Given the description of an element on the screen output the (x, y) to click on. 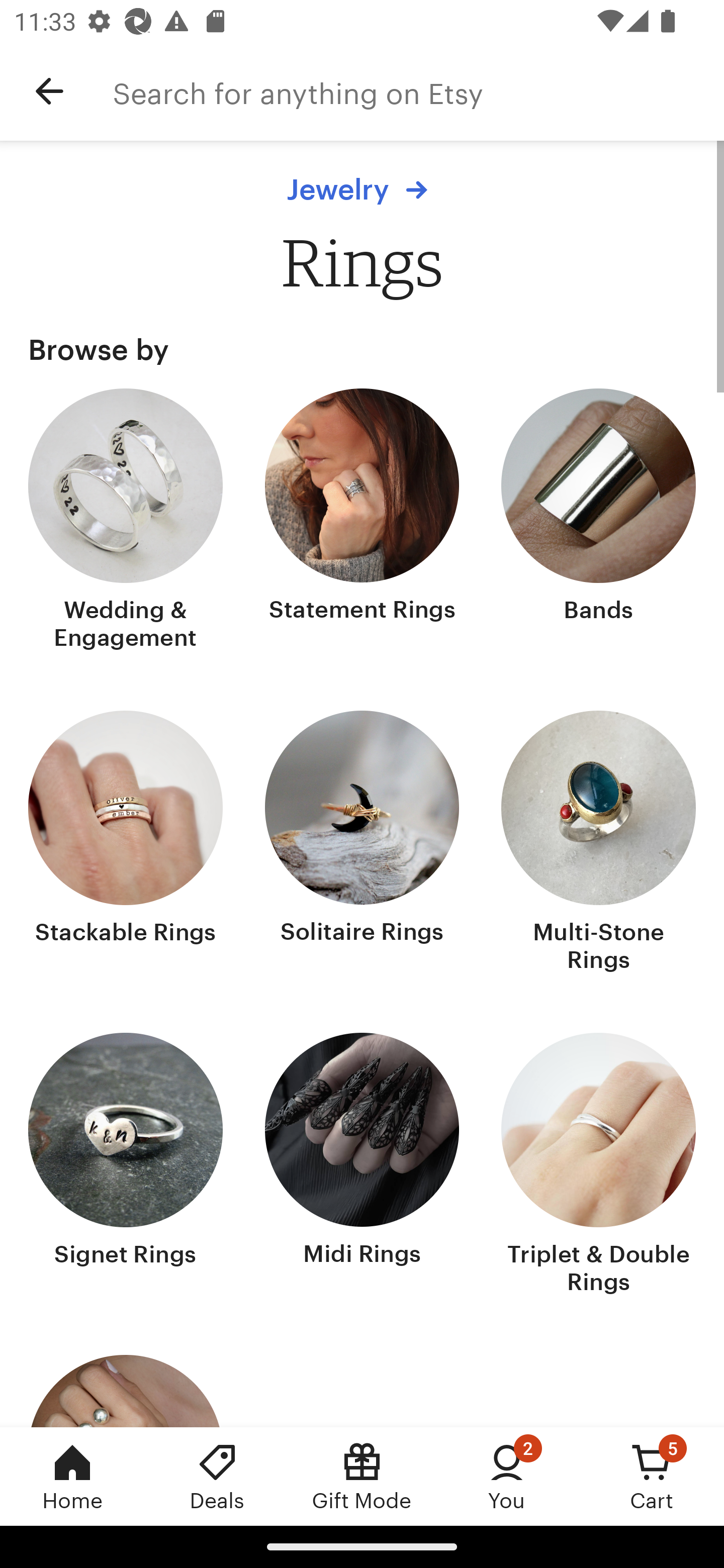
Navigate up (49, 91)
Search for anything on Etsy (418, 91)
Jewelry (361, 189)
Wedding & Engagement (125, 520)
Statement Rings (361, 520)
Bands (598, 520)
Stackable Rings (125, 843)
Solitaire Rings (361, 843)
Multi-Stone Rings (598, 843)
Signet Rings (125, 1165)
Midi Rings (361, 1165)
Triplet & Double Rings (598, 1165)
Deals (216, 1475)
Gift Mode (361, 1475)
You, 2 new notifications You (506, 1475)
Cart, 5 new notifications Cart (651, 1475)
